Given the description of an element on the screen output the (x, y) to click on. 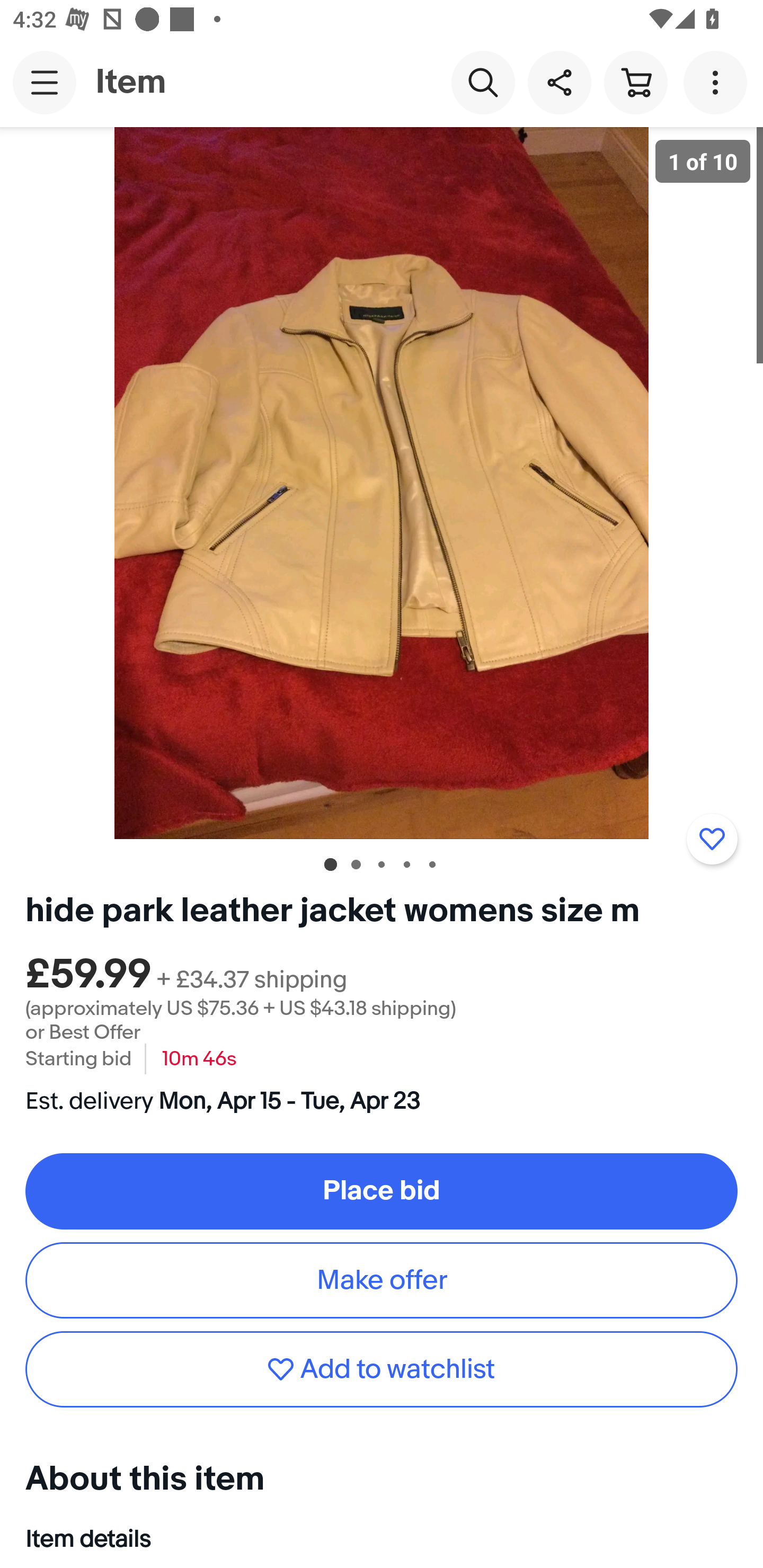
Main navigation, open (44, 82)
Search (482, 81)
Share this item (559, 81)
Cart button shopping cart (635, 81)
More options (718, 81)
Item image 1 of 10 (381, 482)
Add to watchlist (711, 838)
Place bid (381, 1190)
Make offer (381, 1279)
Add to watchlist (381, 1369)
